Given the description of an element on the screen output the (x, y) to click on. 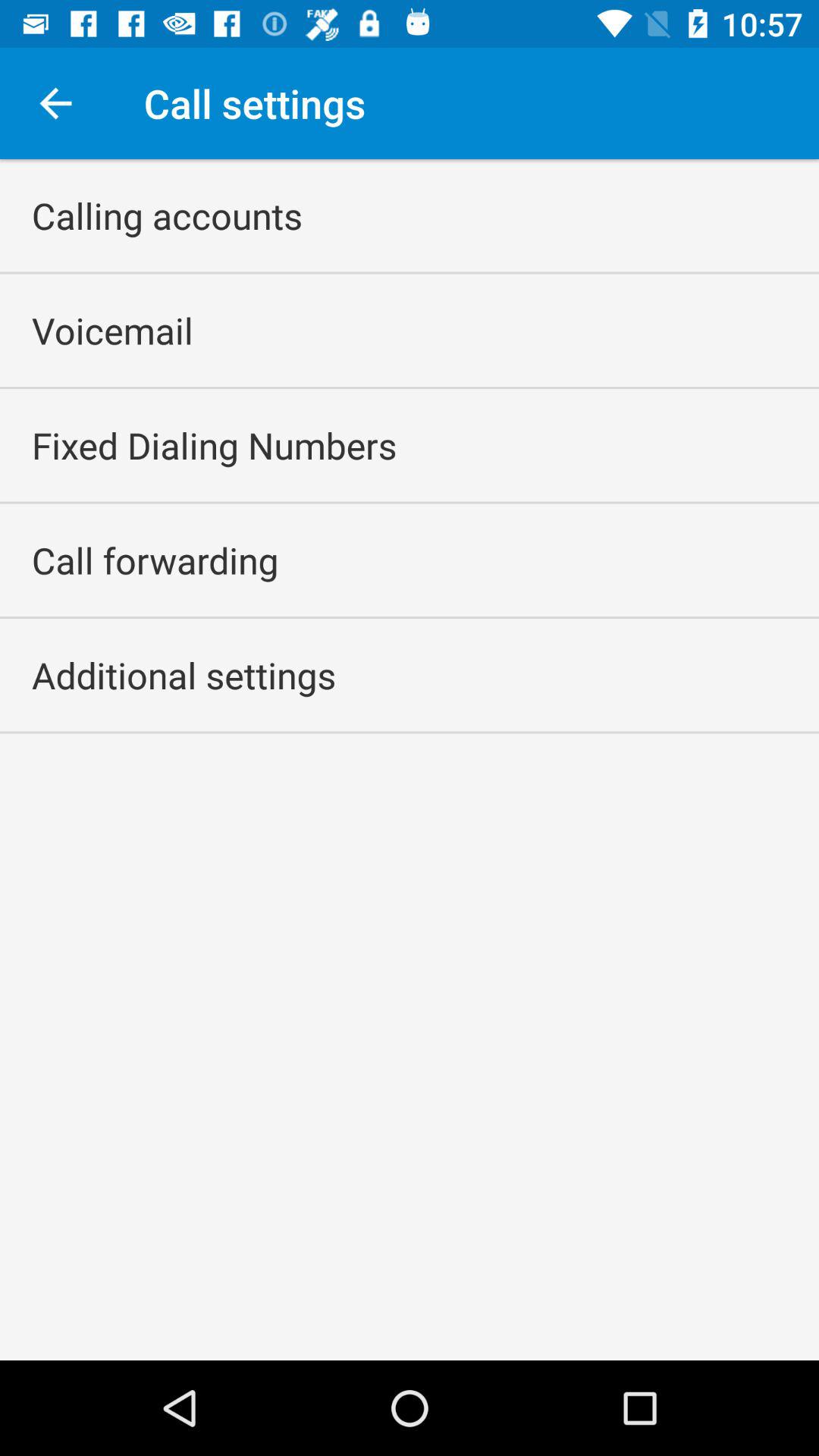
swipe to voicemail (112, 329)
